Given the description of an element on the screen output the (x, y) to click on. 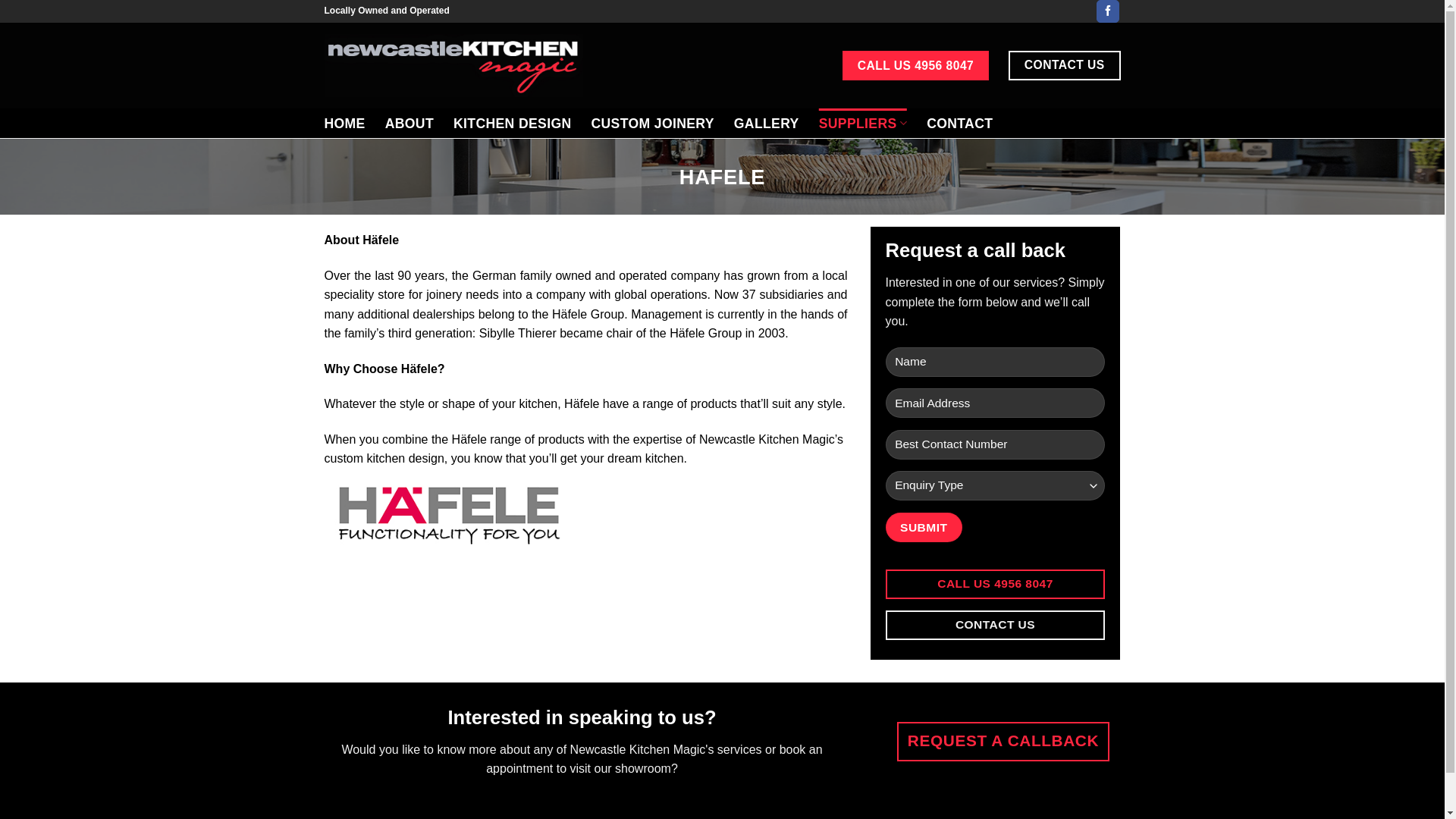
Newcastle Kitchen Magic - Custom made kitchens and joinery Element type: hover (453, 65)
ABOUT Element type: text (409, 123)
HOME Element type: text (344, 123)
CALL US 4956 8047 Element type: text (915, 65)
Skip to content Element type: text (0, 0)
GALLERY Element type: text (766, 123)
CUSTOM JOINERY Element type: text (651, 123)
KITCHEN DESIGN Element type: text (512, 123)
CALL US 4956 8047 Element type: text (995, 584)
CONTACT Element type: text (959, 123)
SUPPLIERS Element type: text (862, 123)
REQUEST A CALLBACK Element type: text (1002, 741)
CONTACT US Element type: text (1064, 65)
Submit Element type: text (923, 527)
CONTACT US Element type: text (995, 625)
